Given the description of an element on the screen output the (x, y) to click on. 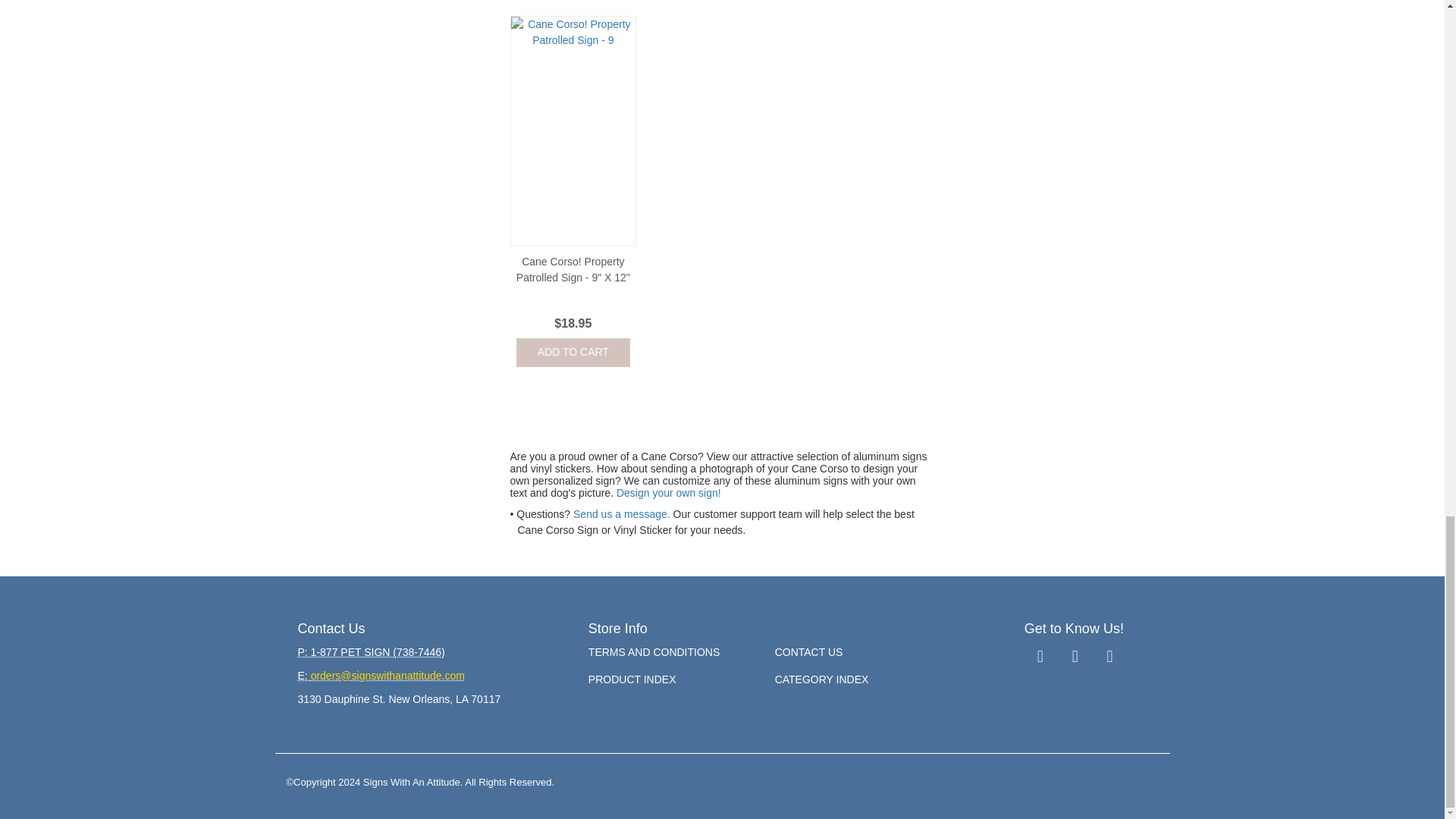
Email Address (380, 675)
Phone Number (370, 652)
Follow Us on Pinterest (1109, 656)
Like Us on Facebook (1039, 656)
Follow Us on Twitter (1074, 656)
